Given the description of an element on the screen output the (x, y) to click on. 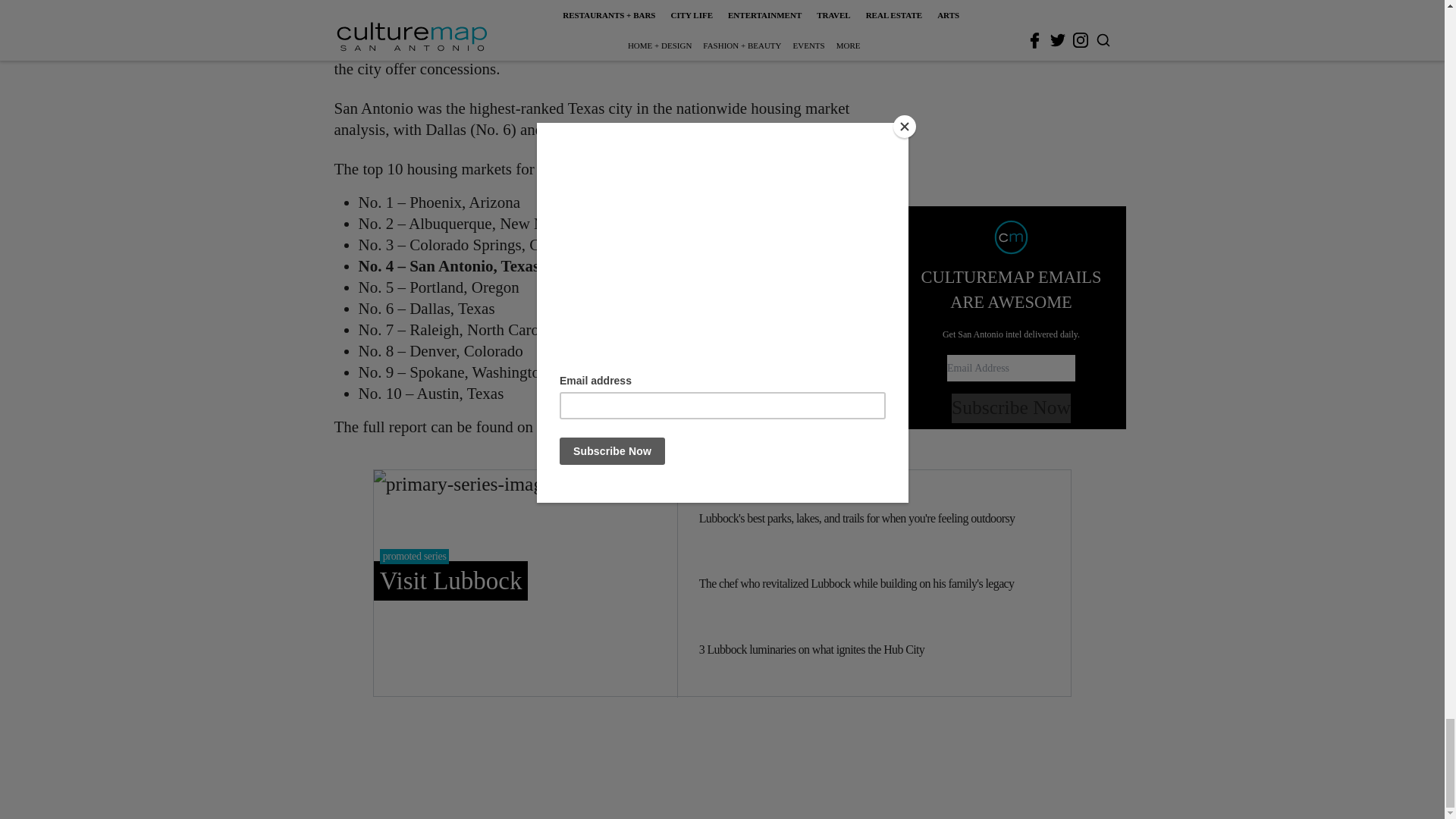
primary-link (525, 583)
